Given the description of an element on the screen output the (x, y) to click on. 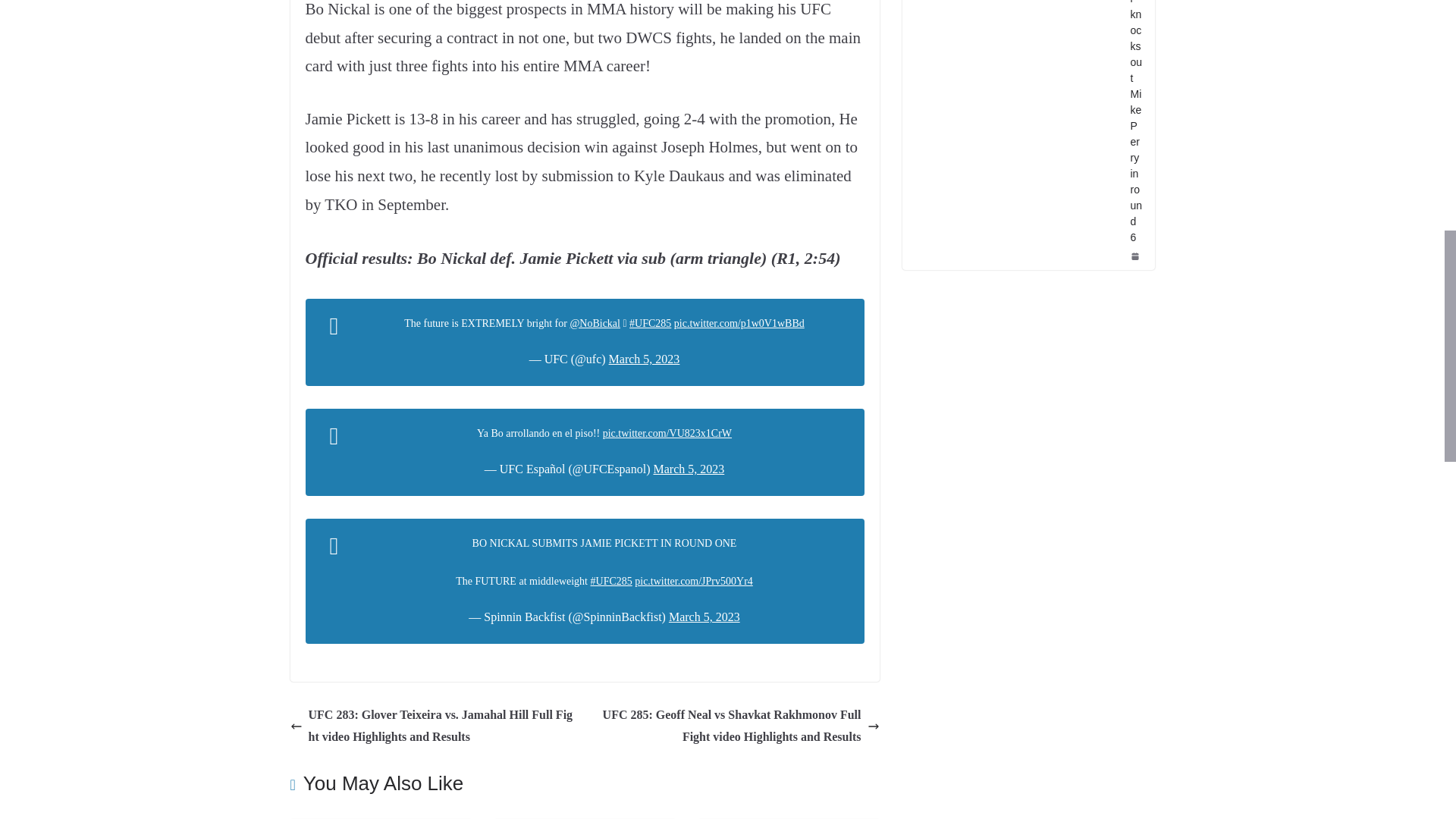
March 5, 2023 (703, 616)
March 5, 2023 (687, 468)
March 5, 2023 (643, 358)
